Given the description of an element on the screen output the (x, y) to click on. 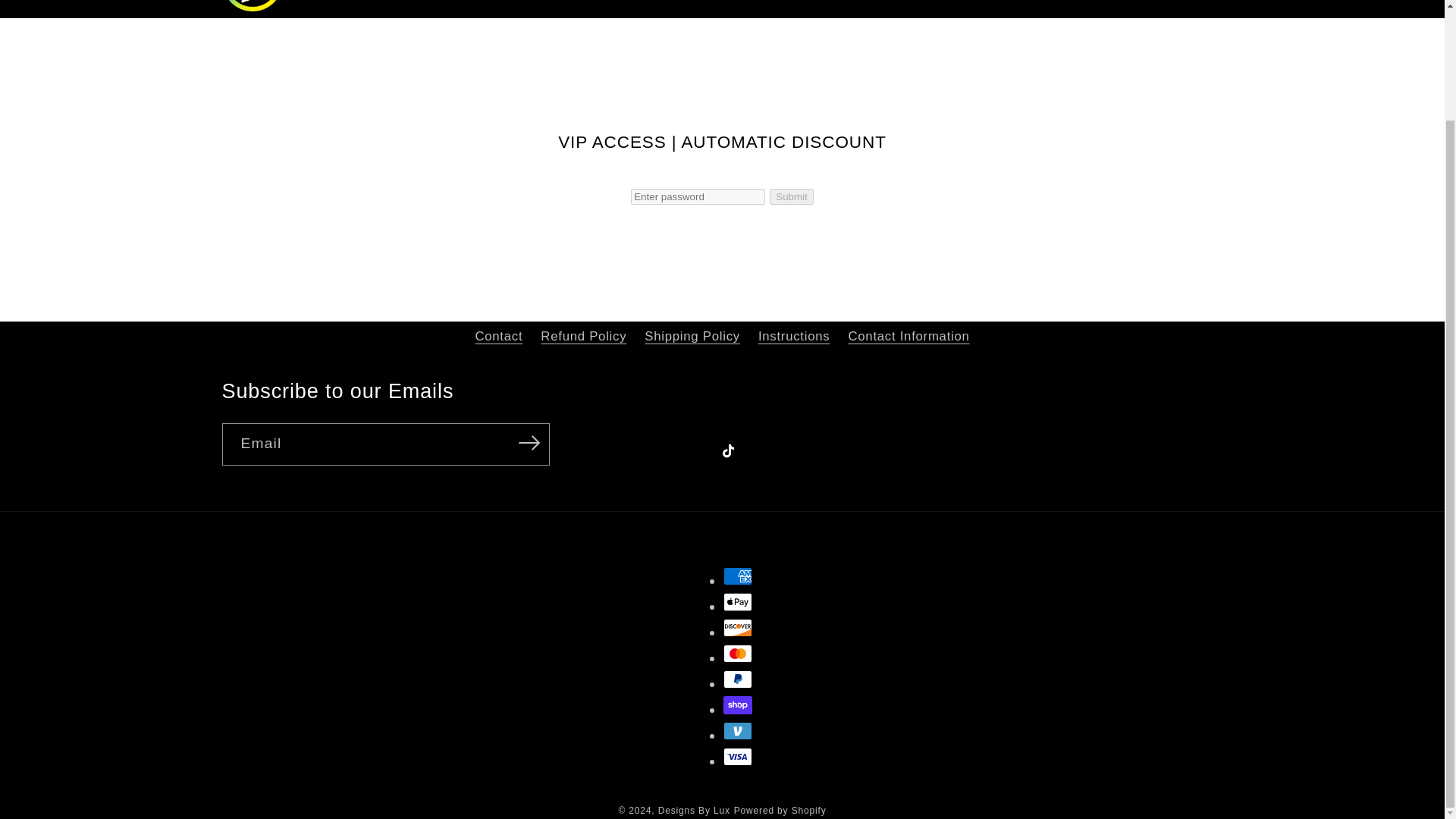
Discover (737, 628)
American Express (737, 576)
Submit (791, 196)
Shop Pay (737, 705)
Venmo (737, 730)
Visa (737, 756)
Mastercard (737, 653)
Cart (1213, 0)
Apple Pay (737, 601)
PayPal (737, 679)
